Given the description of an element on the screen output the (x, y) to click on. 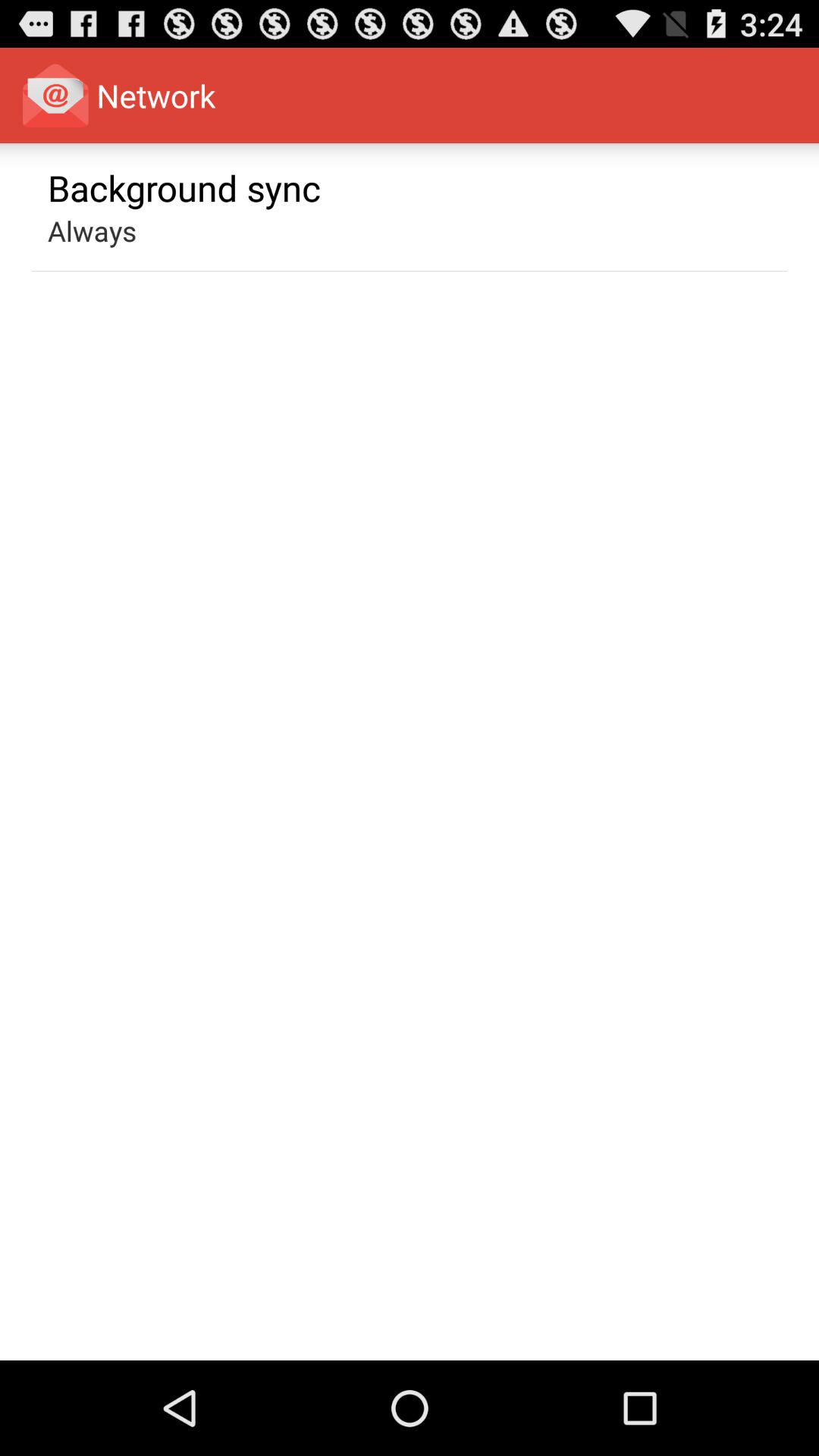
launch app above the always app (183, 187)
